Given the description of an element on the screen output the (x, y) to click on. 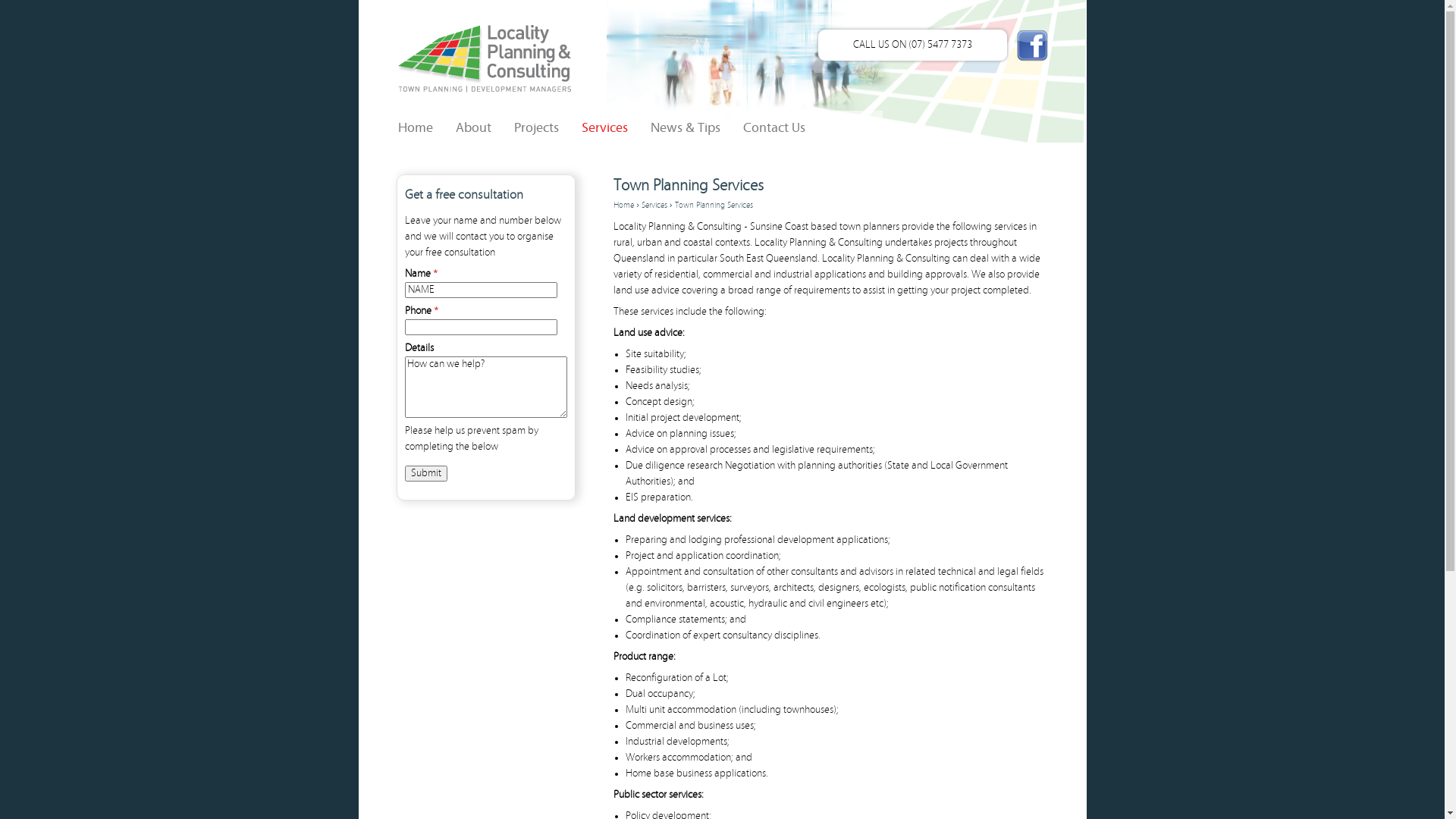
Contact Us Element type: text (762, 122)
Services Element type: text (654, 205)
Jump to navigation Element type: text (722, 2)
Home Element type: text (623, 205)
Services Element type: text (592, 122)
About Element type: text (461, 122)
Home Element type: text (403, 122)
Submit Element type: text (425, 473)
Projects Element type: text (524, 122)
Home Element type: hover (463, 55)
Find us on Facebook Element type: hover (1032, 48)
News & Tips Element type: text (673, 122)
